Given the description of an element on the screen output the (x, y) to click on. 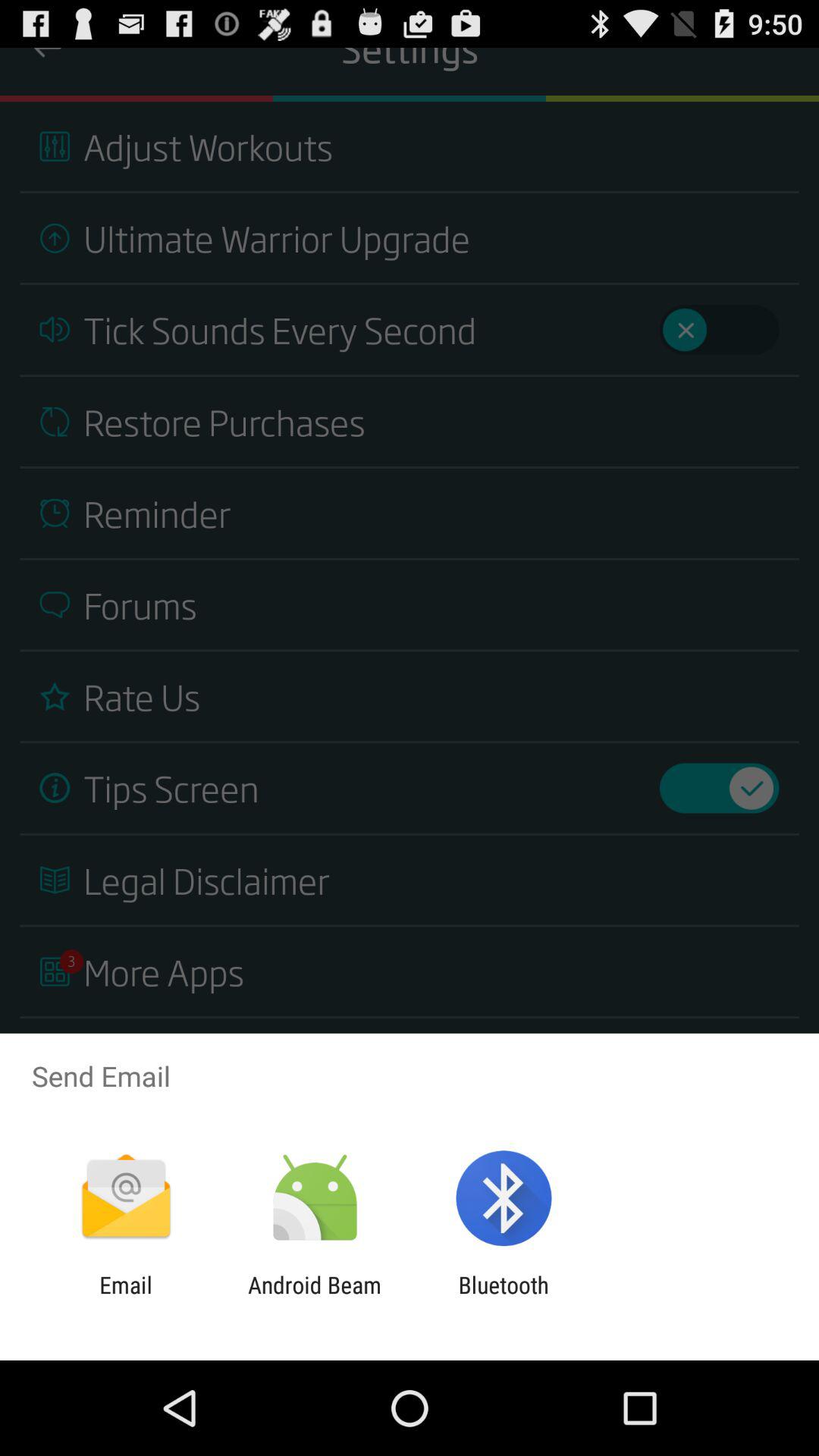
jump until the bluetooth icon (503, 1298)
